Given the description of an element on the screen output the (x, y) to click on. 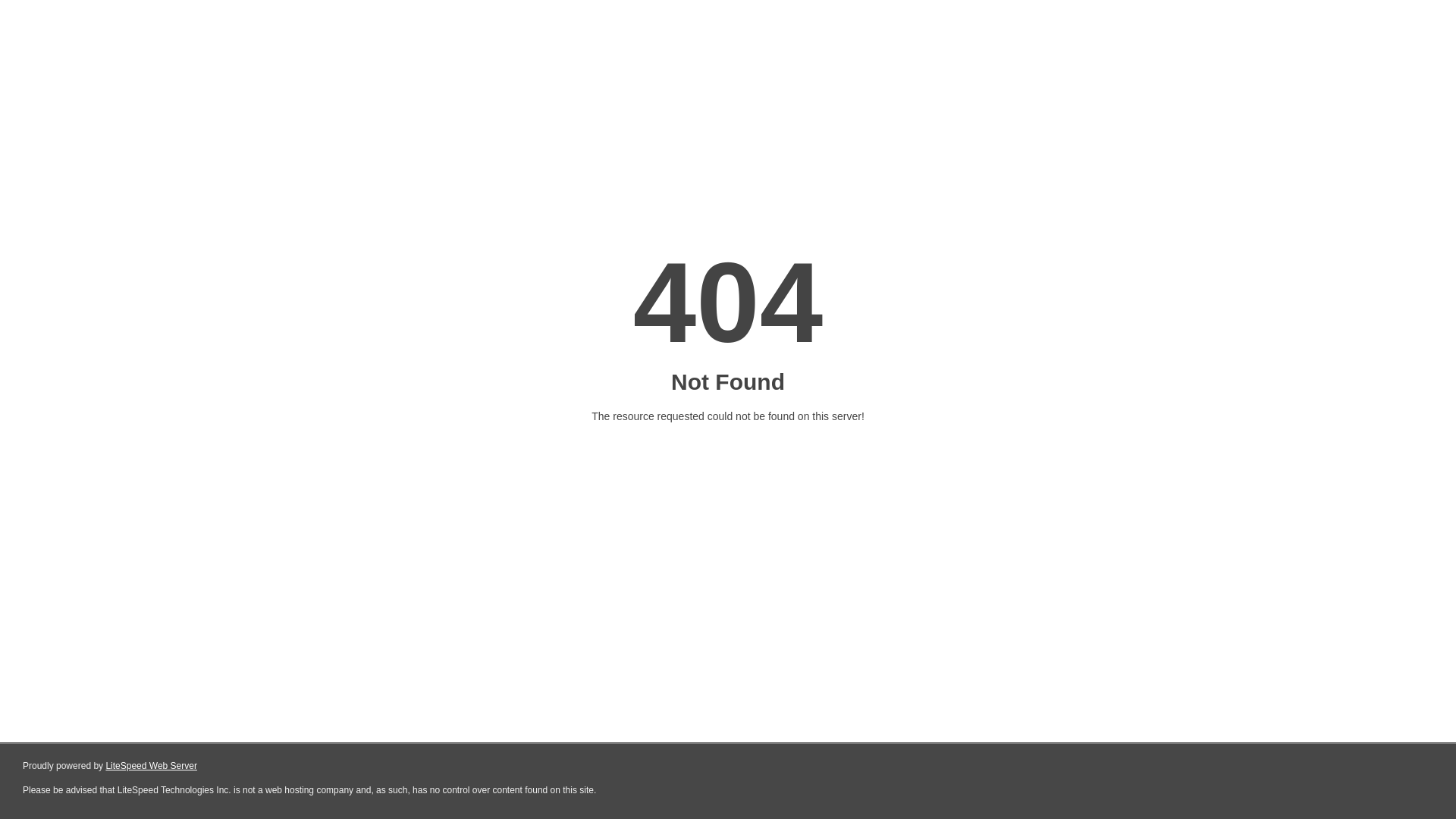
LiteSpeed Web Server Element type: text (151, 765)
